Given the description of an element on the screen output the (x, y) to click on. 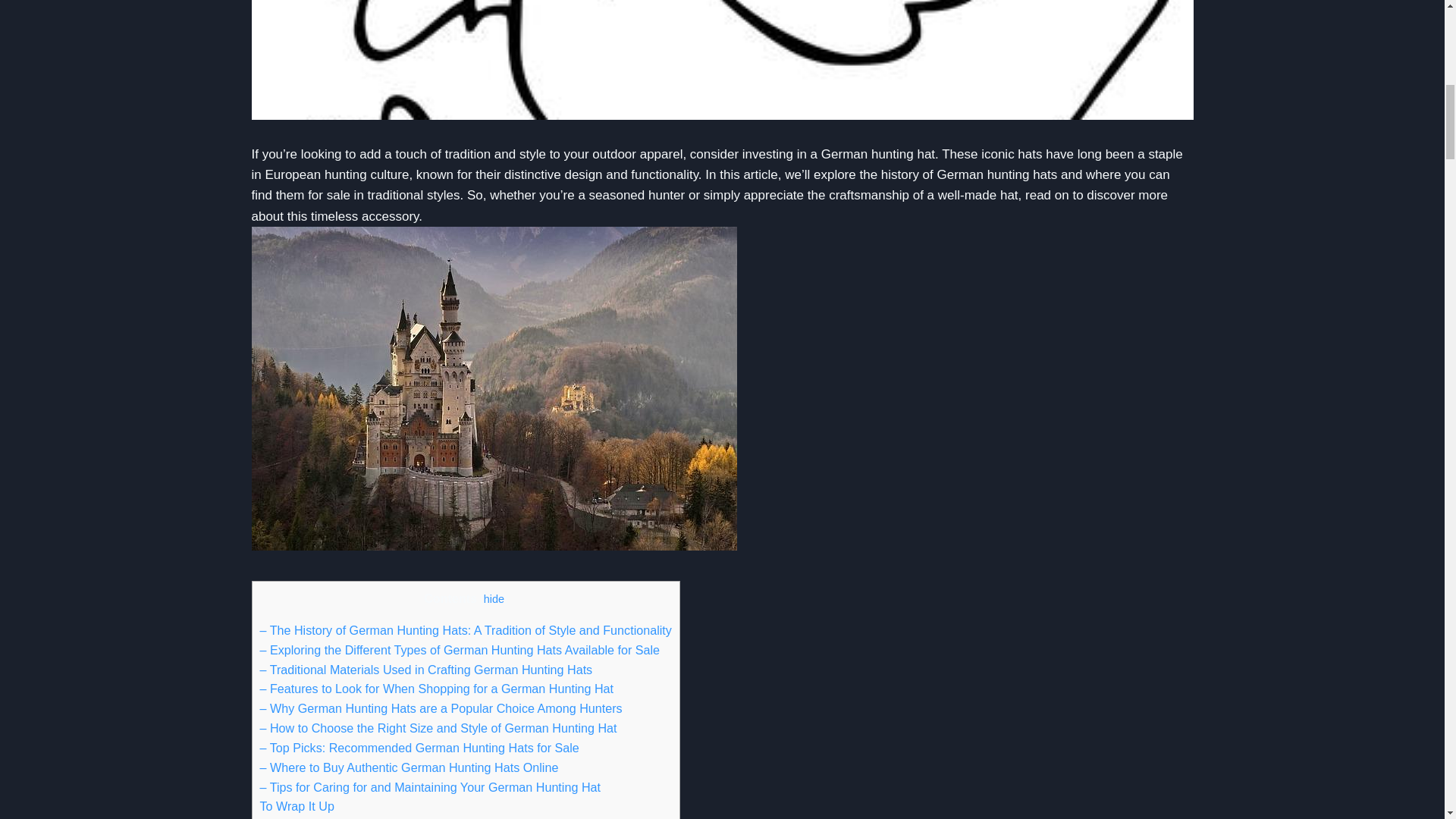
To Wrap It Up (296, 806)
hide (493, 598)
